Given the description of an element on the screen output the (x, y) to click on. 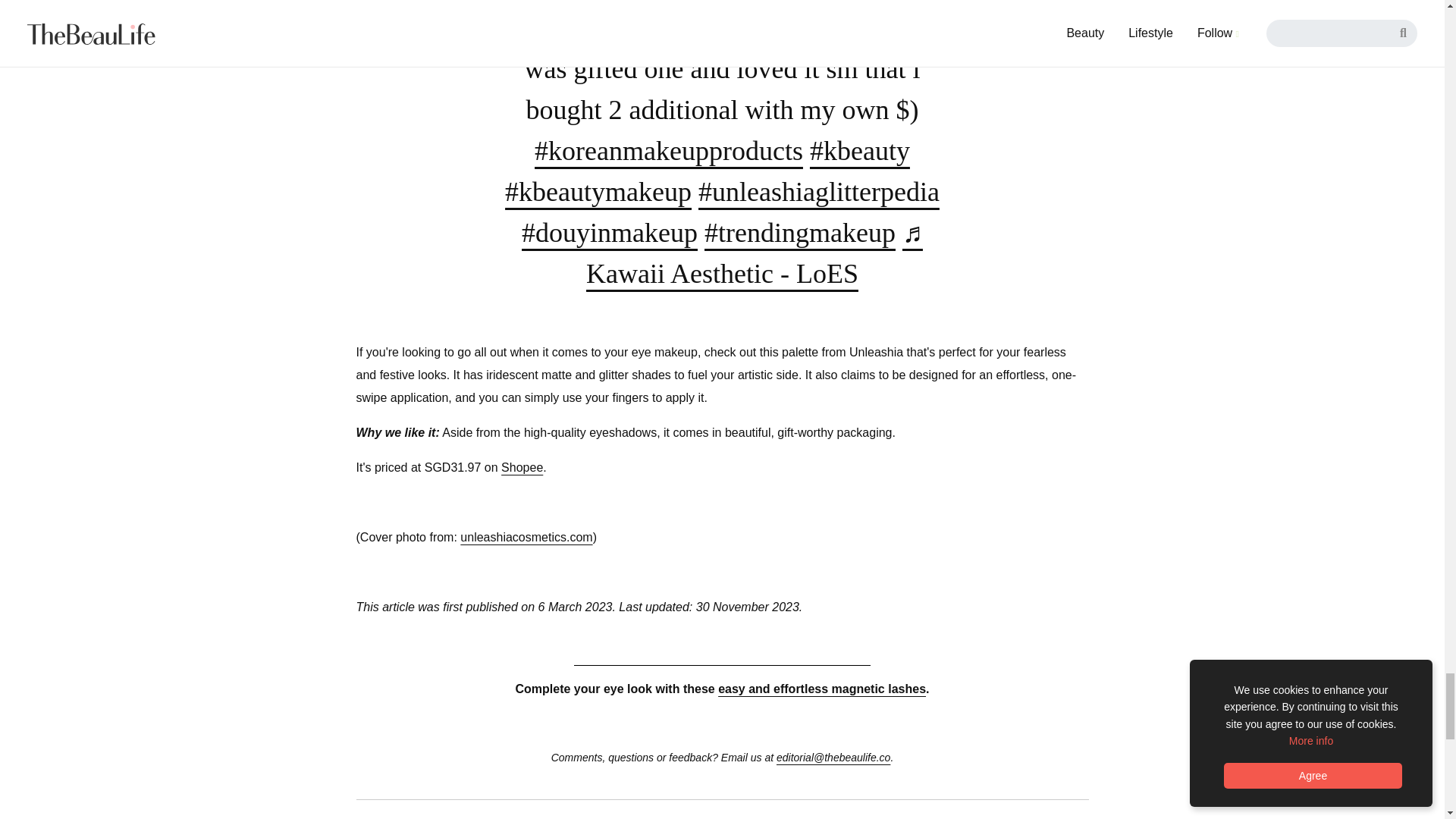
unleashiaglitterpedia (818, 191)
douyinmakeup (609, 232)
koreanmakeupproducts (668, 150)
trendingmakeup (799, 232)
kbeautymakeup (598, 191)
kbeauty (859, 150)
